Given the description of an element on the screen output the (x, y) to click on. 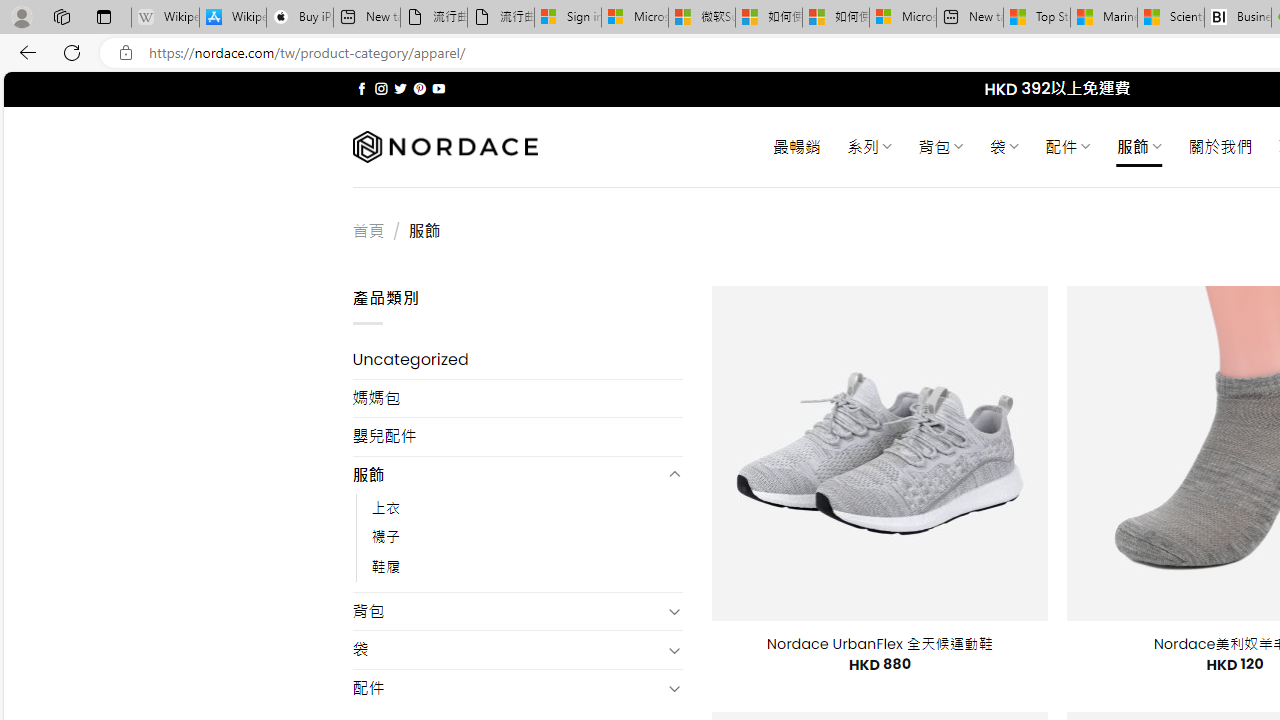
Follow on Twitter (400, 88)
